Given the description of an element on the screen output the (x, y) to click on. 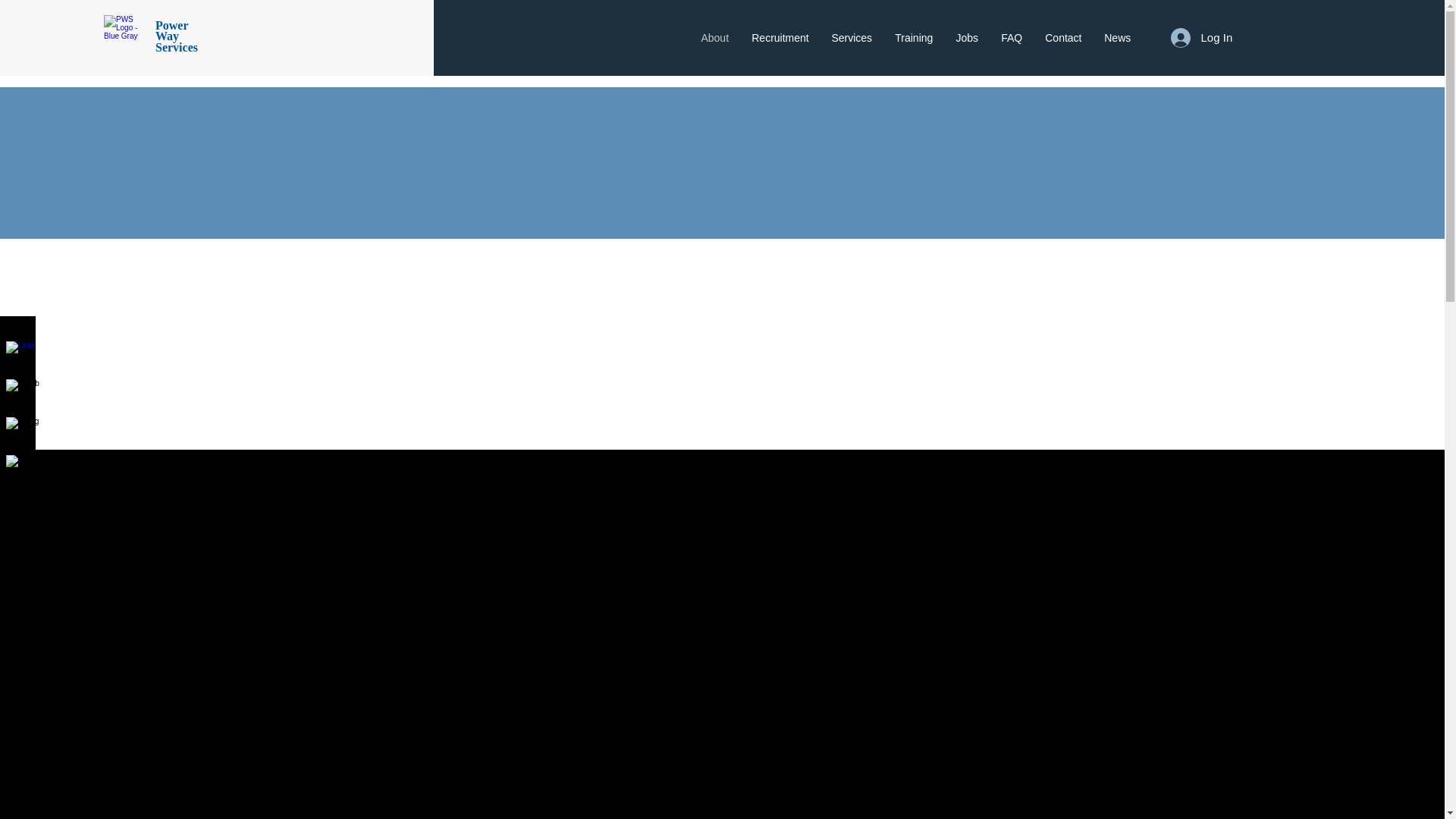
Log In (1201, 37)
Way (167, 35)
Services (176, 47)
Power (172, 24)
FAQ (1011, 37)
Contact (1063, 37)
Services (851, 37)
Jobs (966, 37)
About (713, 37)
Training (913, 37)
